Given the description of an element on the screen output the (x, y) to click on. 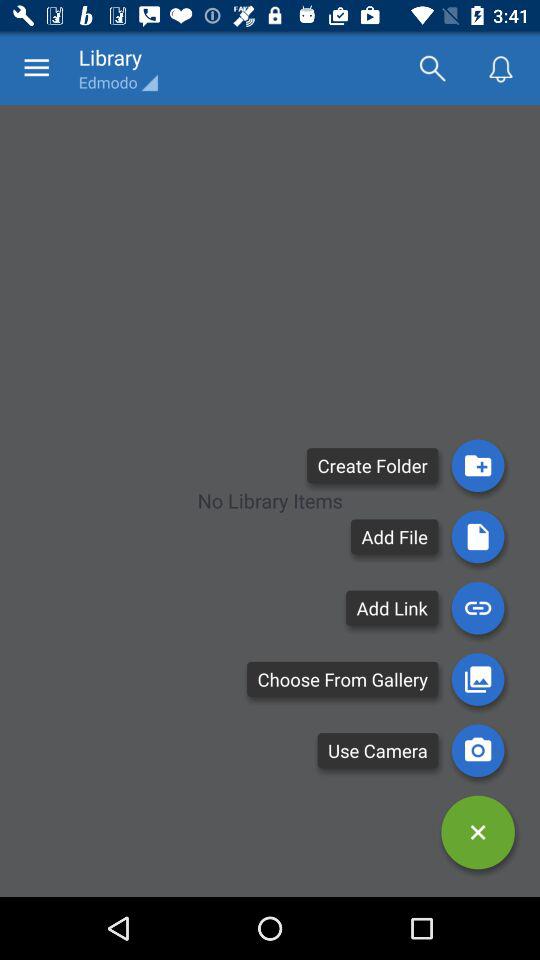
choose from gallery (478, 679)
